Given the description of an element on the screen output the (x, y) to click on. 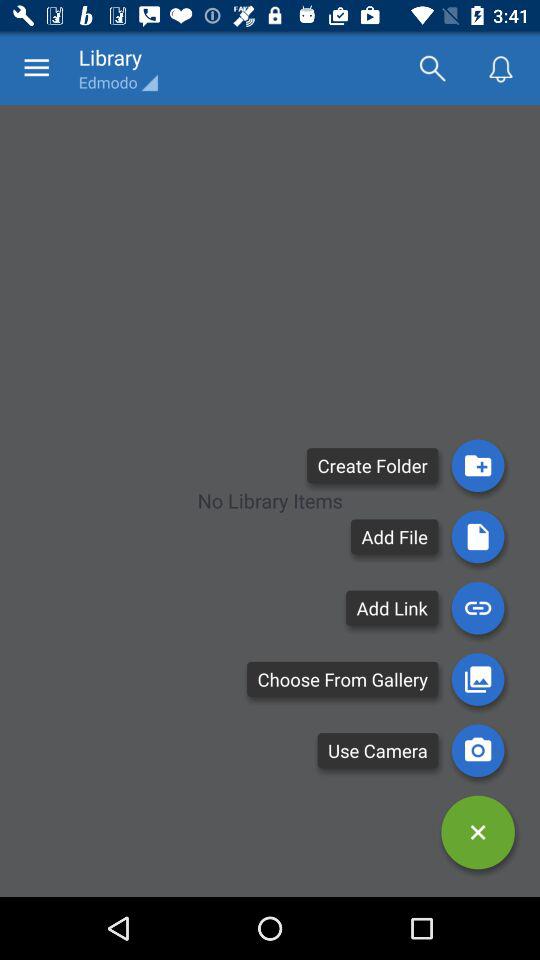
choose from gallery (478, 679)
